Given the description of an element on the screen output the (x, y) to click on. 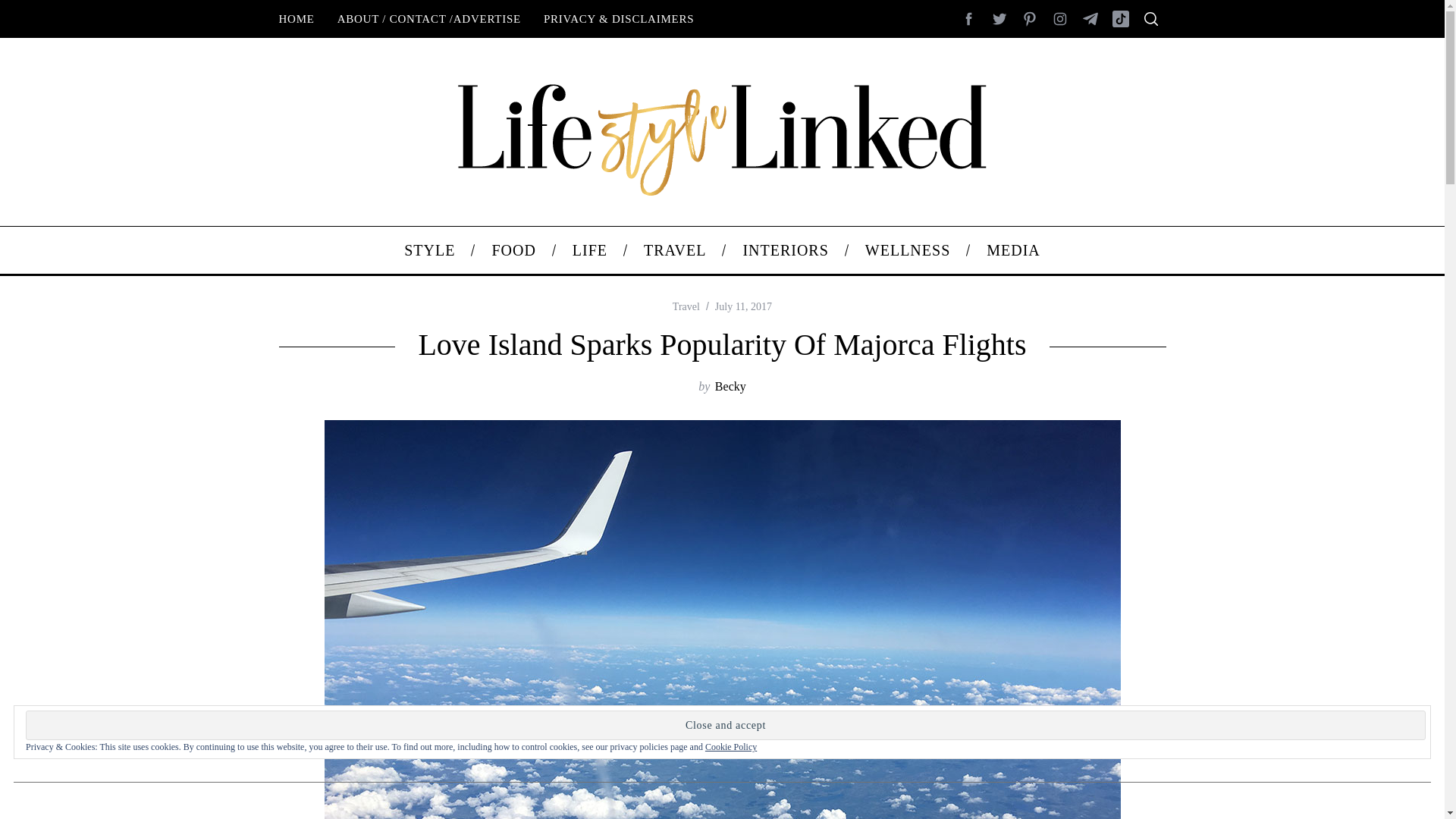
STYLE (429, 249)
Close and accept (725, 725)
Becky (729, 386)
FOOD (513, 249)
HOME (295, 18)
WELLNESS (907, 249)
INTERIORS (784, 249)
TRAVEL (674, 249)
MEDIA (1013, 249)
Travel (686, 306)
LIFE (590, 249)
